Given the description of an element on the screen output the (x, y) to click on. 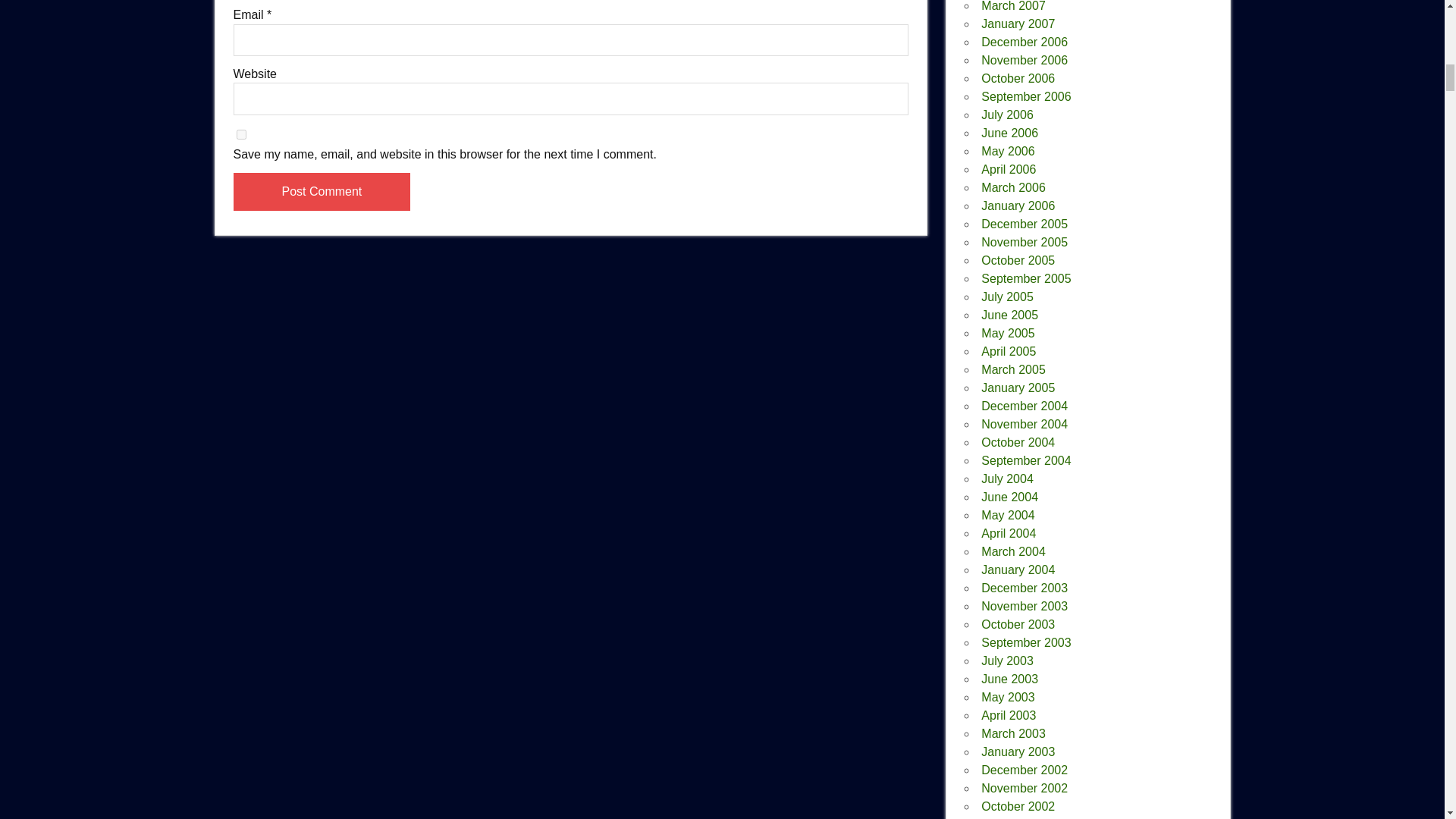
Post Comment (321, 191)
yes (240, 134)
Post Comment (321, 191)
